Given the description of an element on the screen output the (x, y) to click on. 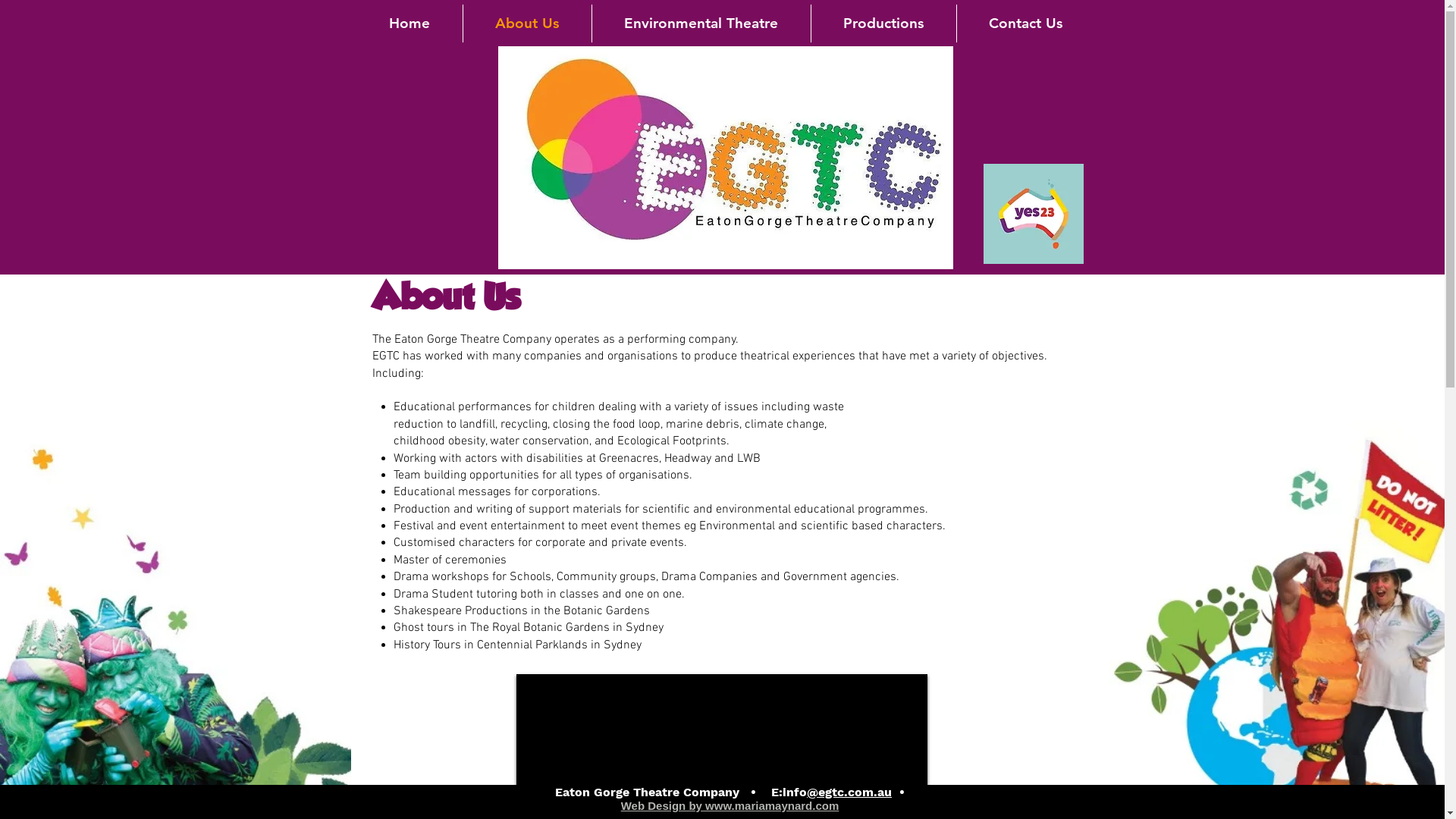
Home Element type: text (408, 23)
Productions Element type: text (883, 23)
Environmental Theatre Element type: text (700, 23)
Web Design by www.mariamaynard.com Element type: text (730, 805)
Contact Us Element type: text (1025, 23)
About Us Element type: text (526, 23)
@egtc.com.au Element type: text (848, 791)
